Given the description of an element on the screen output the (x, y) to click on. 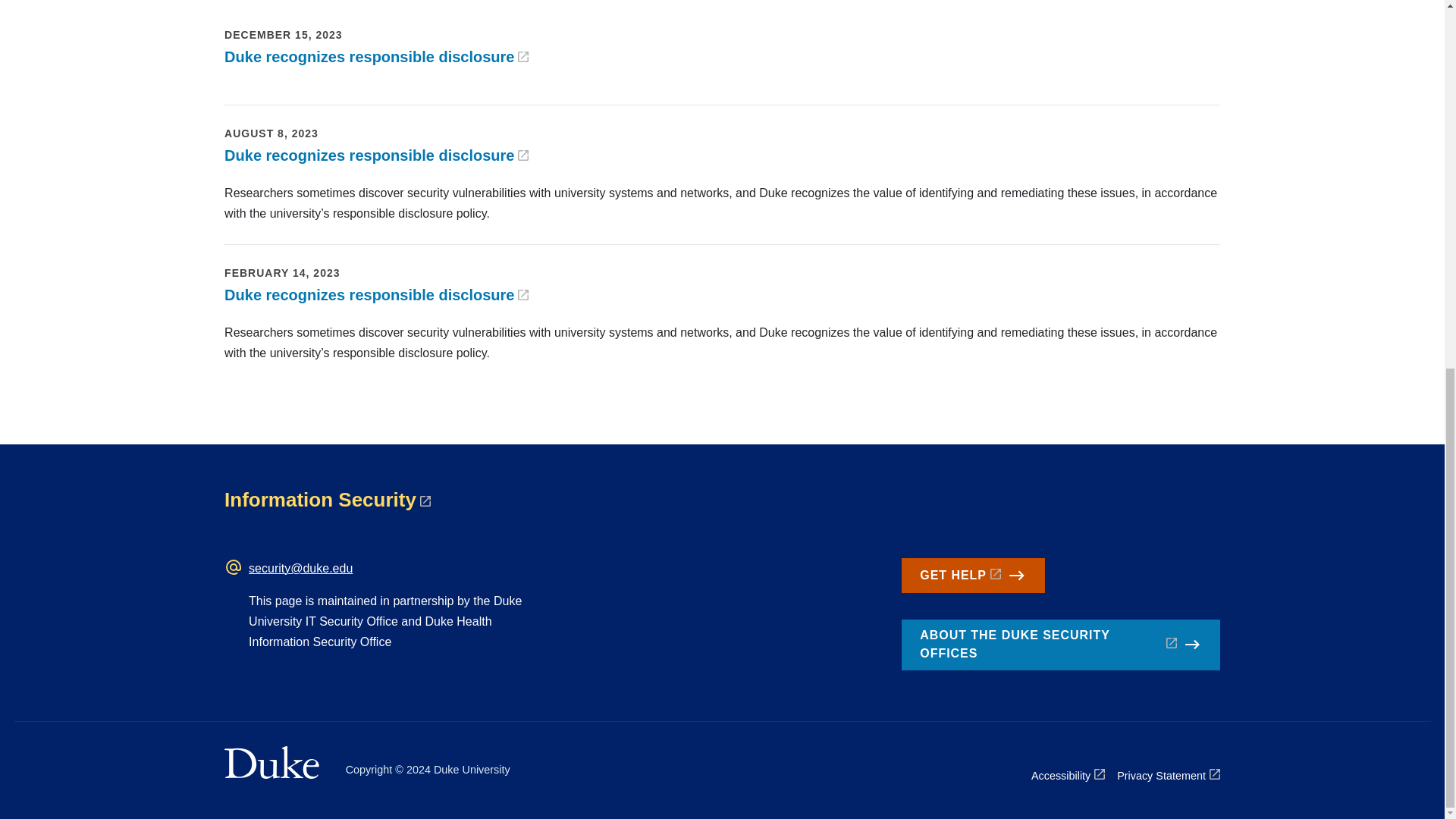
Duke recognizes responsible disclosure (376, 56)
Information Security (327, 499)
GET HELP (972, 574)
Duke recognizes responsible disclosure (376, 294)
ABOUT THE DUKE SECURITY OFFICES (1060, 644)
Accessibility (1067, 775)
Privacy Statement (1168, 775)
Duke recognizes responsible disclosure (376, 155)
